Given the description of an element on the screen output the (x, y) to click on. 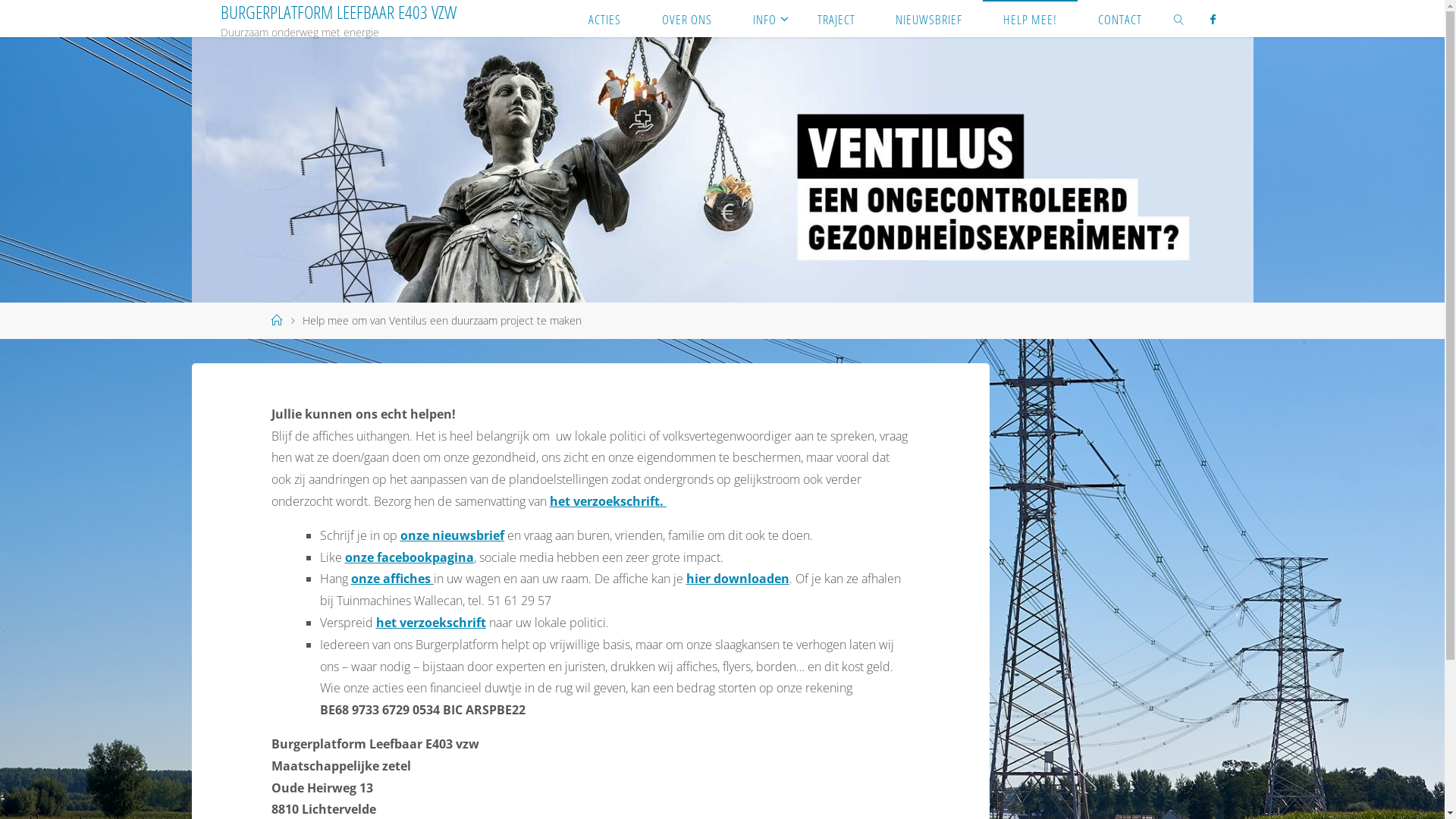
CONTACT Element type: text (1119, 18)
NIEUWSBRIEF Element type: text (929, 18)
het verzoekschrift.  Element type: text (607, 500)
HELP MEE! Element type: text (1029, 18)
SEARCH Element type: text (1178, 18)
onze facebookpagina Element type: text (409, 557)
onze affiches Element type: text (390, 578)
hier downloaden Element type: text (737, 578)
TRAJECT Element type: text (836, 18)
ACTIES Element type: text (605, 18)
Home Element type: text (276, 320)
INFO Element type: text (764, 18)
het verzoekschrift Element type: text (431, 622)
OVER ONS Element type: text (686, 18)
onze nieuwsbrief Element type: text (452, 535)
